Given the description of an element on the screen output the (x, y) to click on. 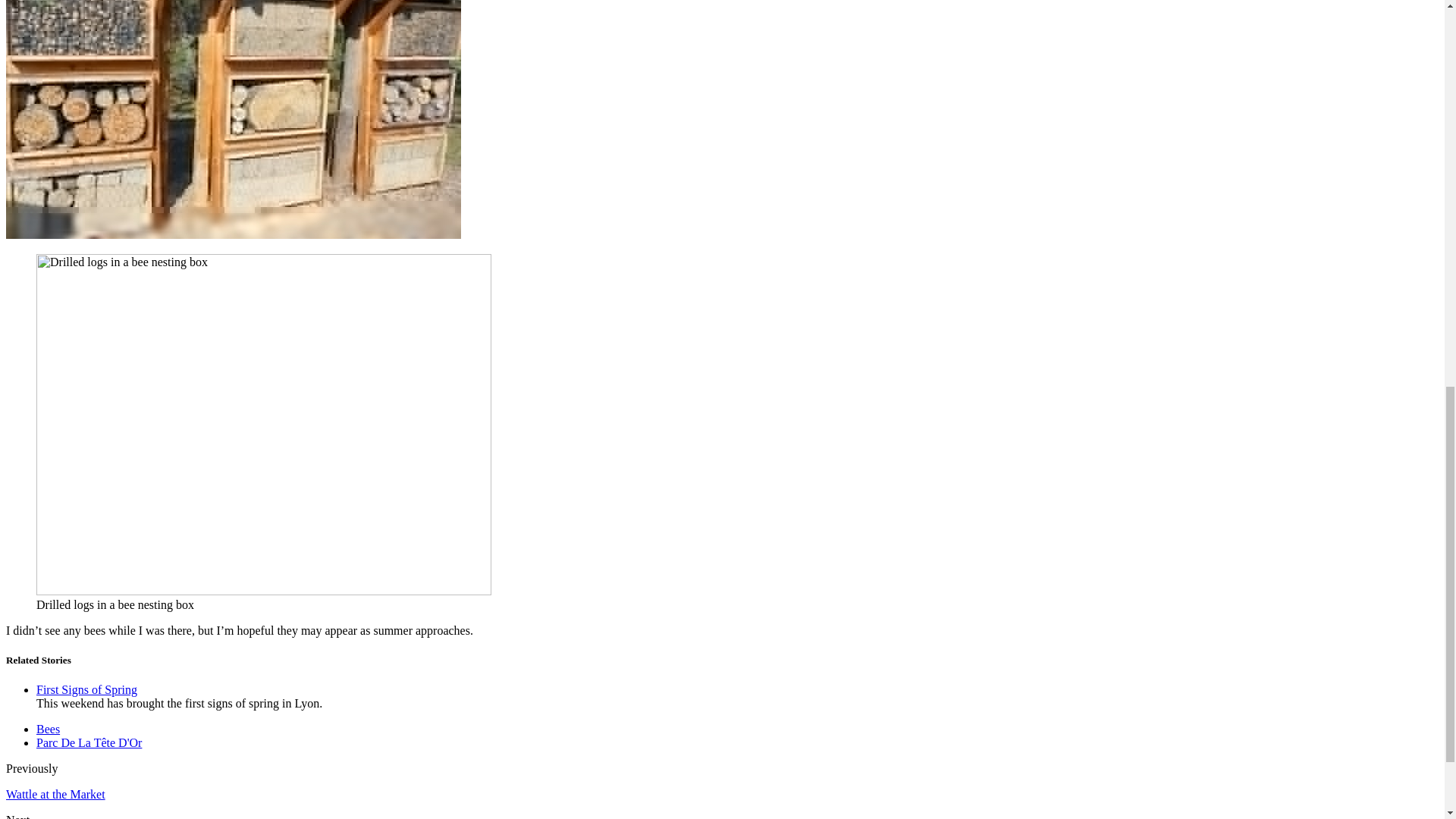
Different nesting materials in bee shelters (233, 119)
Bees (47, 728)
Wattle at the Market (54, 793)
First Signs of Spring (86, 689)
